Given the description of an element on the screen output the (x, y) to click on. 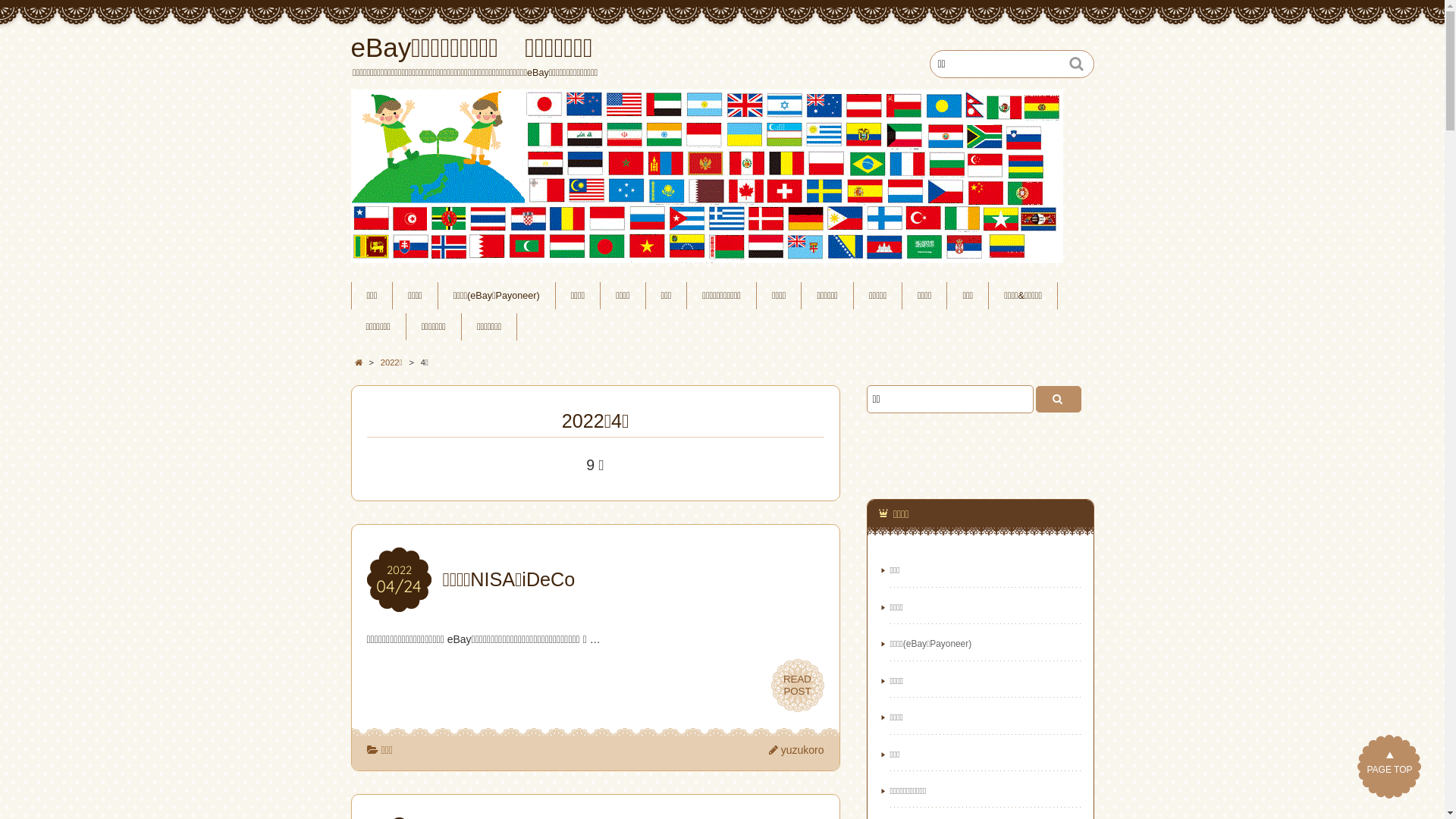
yuzukoro Element type: text (796, 749)
READ
POST Element type: text (796, 685)
PAGE TOP Element type: text (1389, 766)
2022
04/24 Element type: text (399, 579)
